Given the description of an element on the screen output the (x, y) to click on. 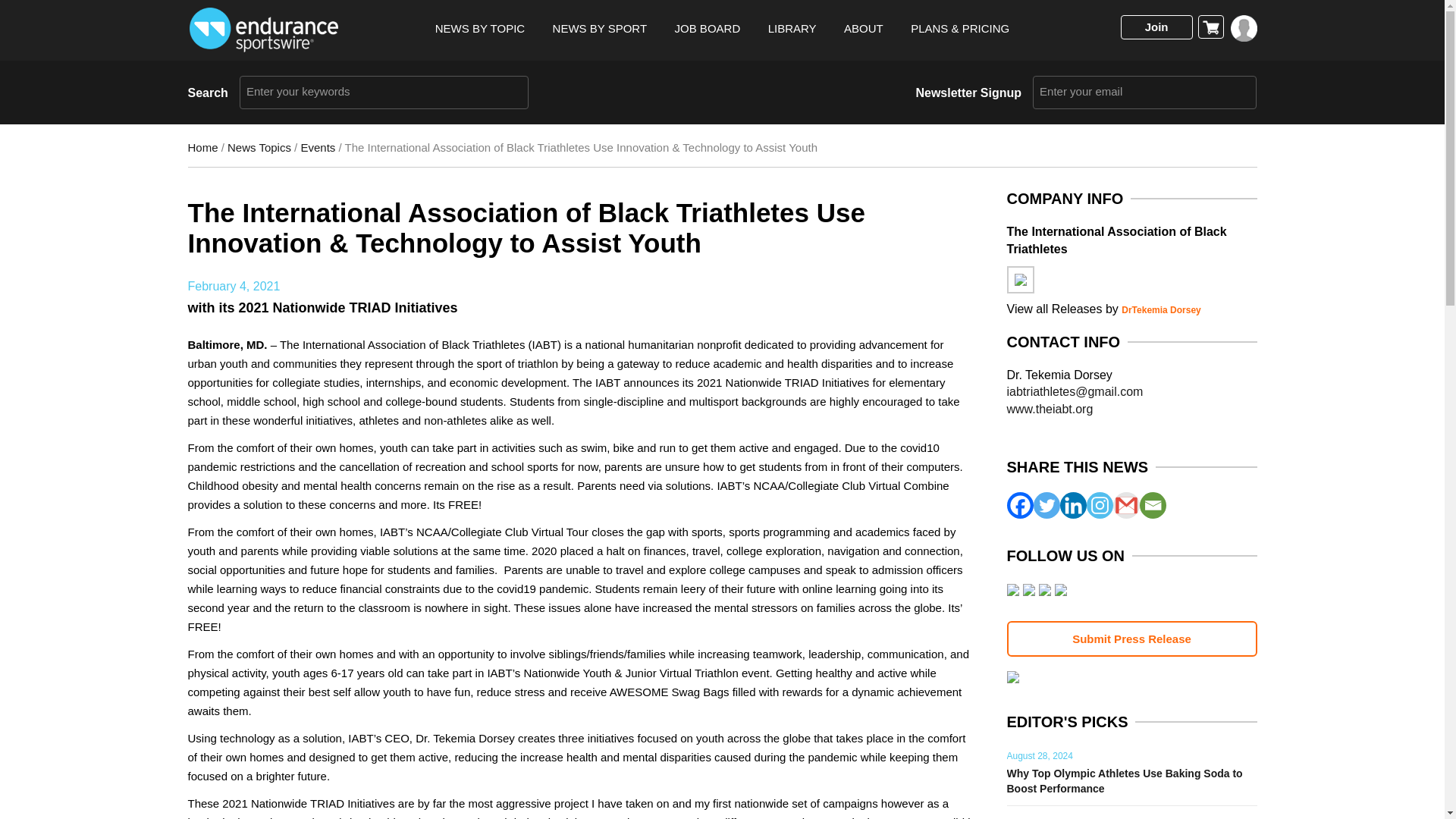
ABOUT (863, 28)
Facebook (1020, 505)
Google Gmail (1126, 505)
JOB BOARD (708, 28)
NEWS BY SPORT (599, 28)
Posts by DrTekemia Dorsey (1161, 309)
Linkedin (1072, 505)
NEWS BY TOPIC (479, 28)
Email (1152, 505)
Instagram (1099, 505)
